Given the description of an element on the screen output the (x, y) to click on. 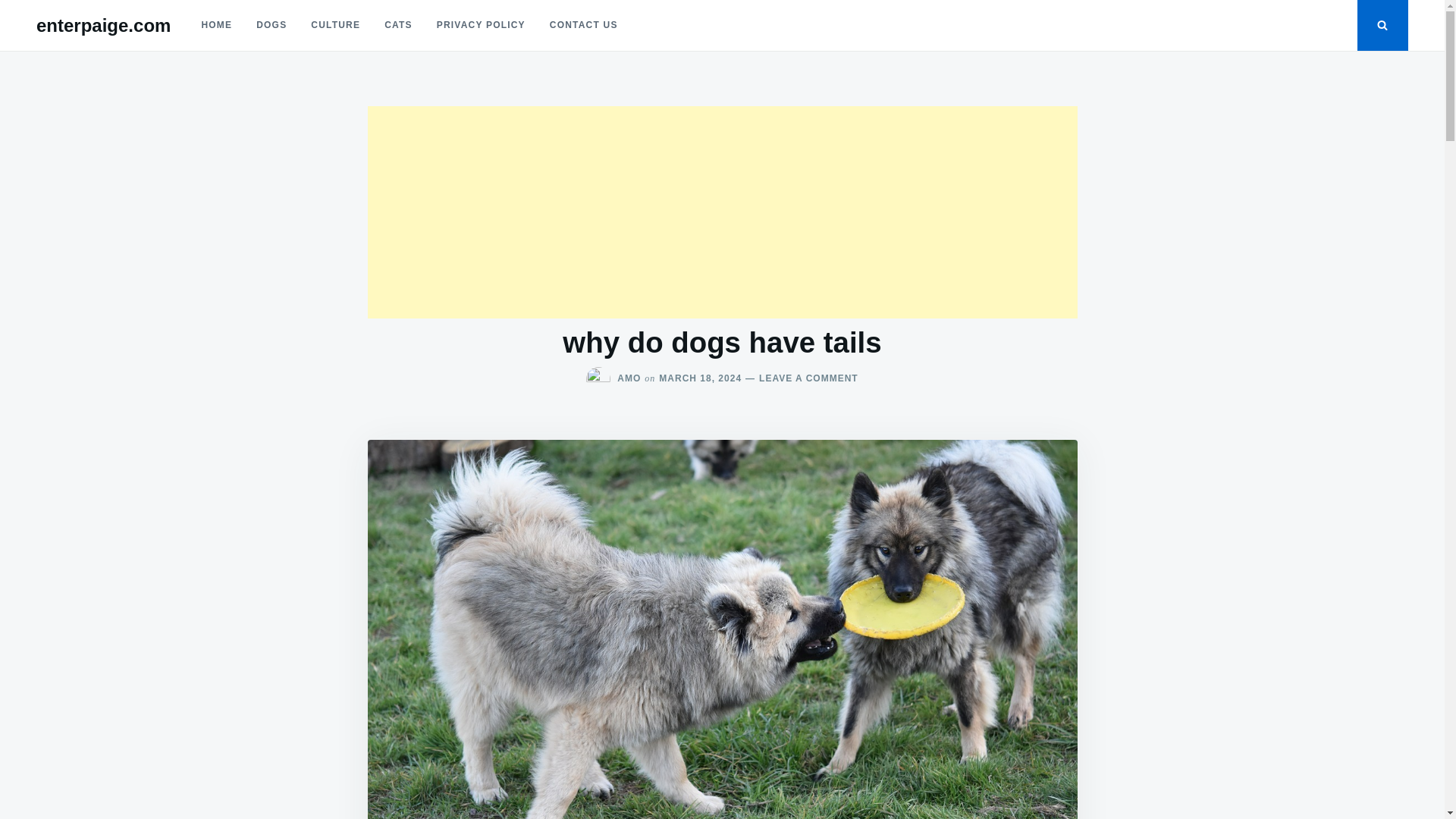
DOGS (271, 25)
CONTACT US (583, 25)
CATS (398, 25)
AMO (628, 378)
CULTURE (335, 25)
PRIVACY POLICY (481, 25)
MARCH 18, 2024 (700, 378)
enterpaige.com (103, 25)
HOME (216, 25)
